Given the description of an element on the screen output the (x, y) to click on. 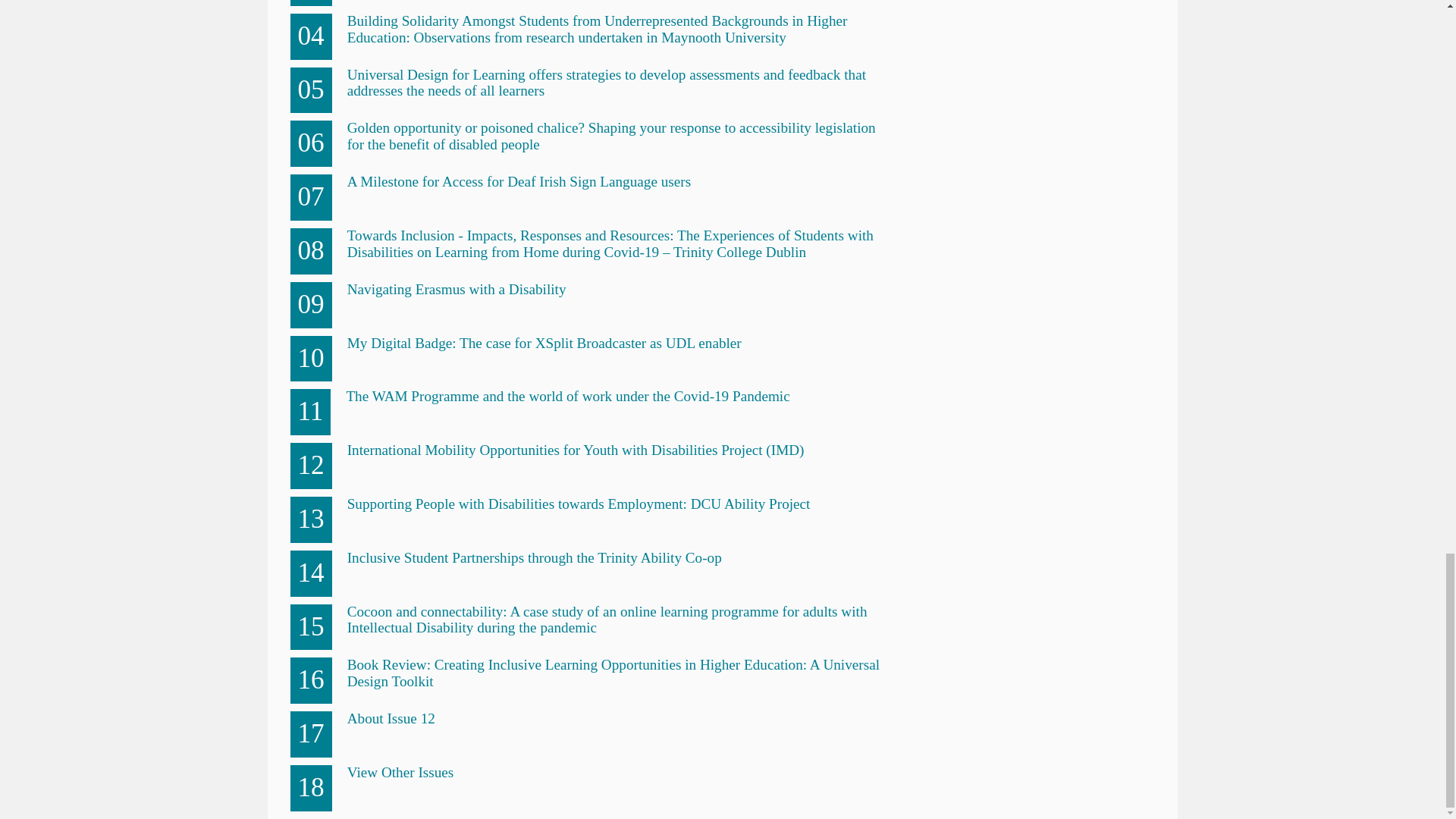
Navigating Erasmus with a Disability (456, 289)
A Milestone for Access for Deaf Irish Sign Language users (518, 181)
